Given the description of an element on the screen output the (x, y) to click on. 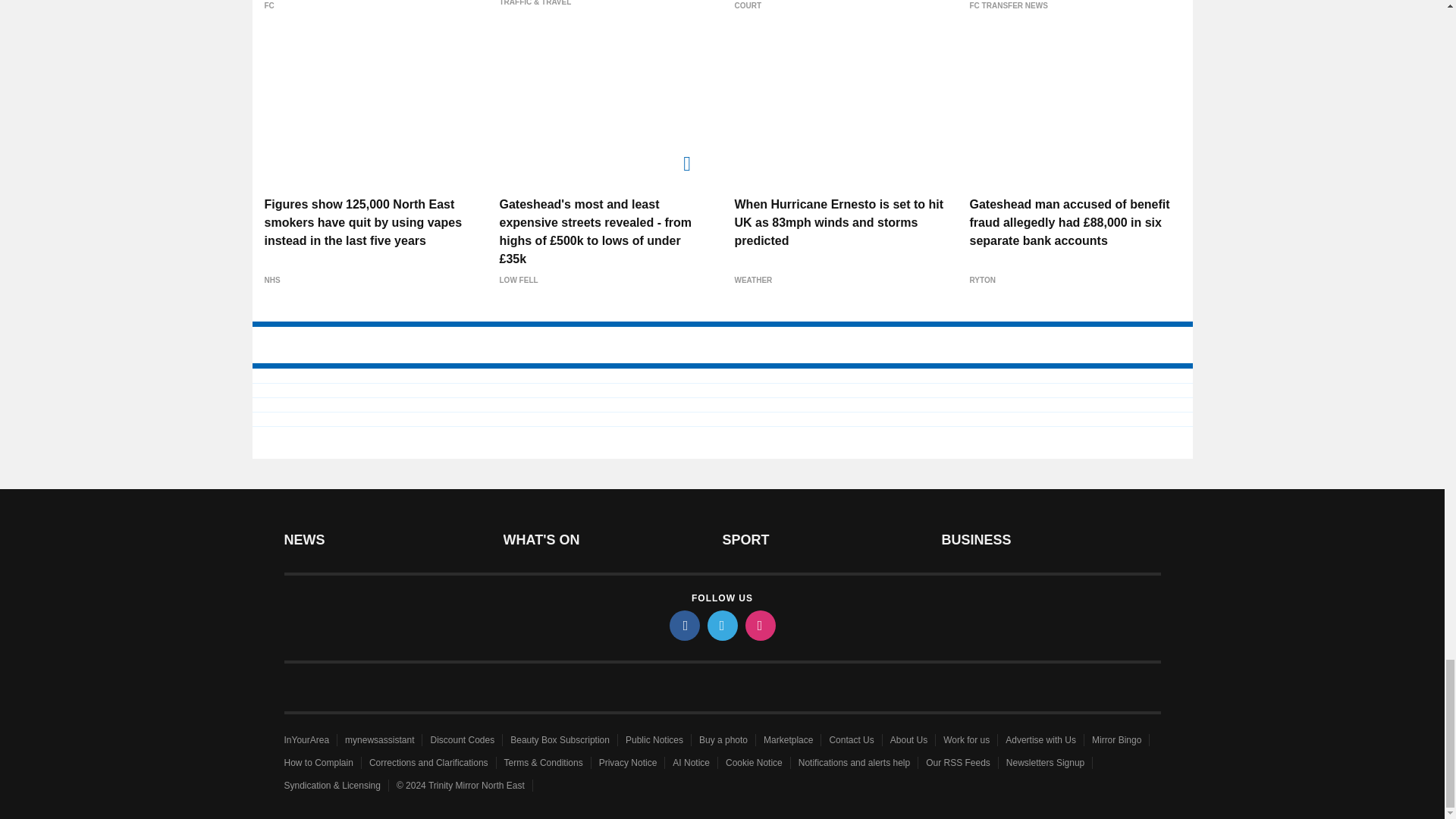
twitter (721, 625)
instagram (759, 625)
facebook (683, 625)
